Given the description of an element on the screen output the (x, y) to click on. 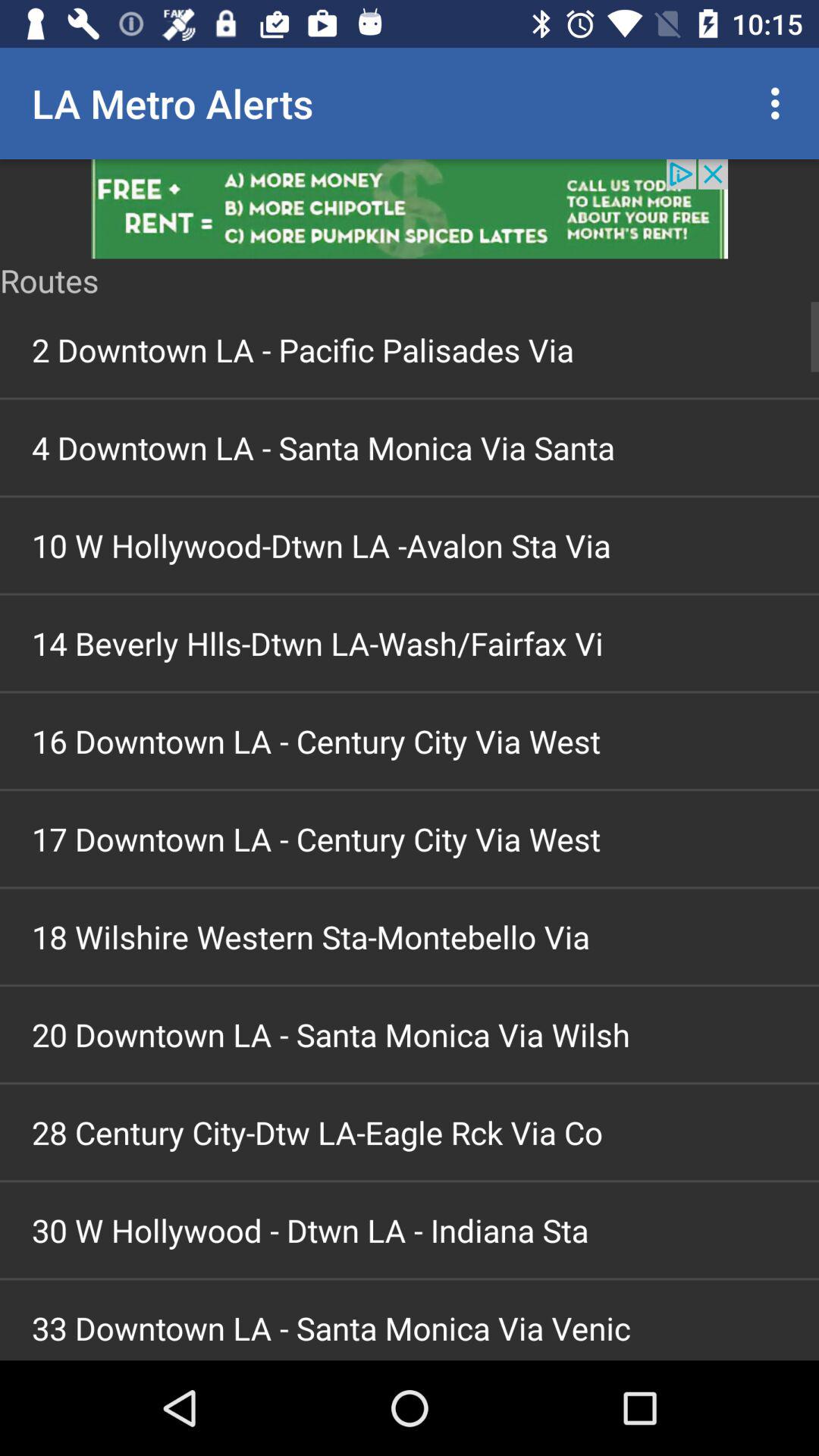
open the advertisement link (409, 208)
